Given the description of an element on the screen output the (x, y) to click on. 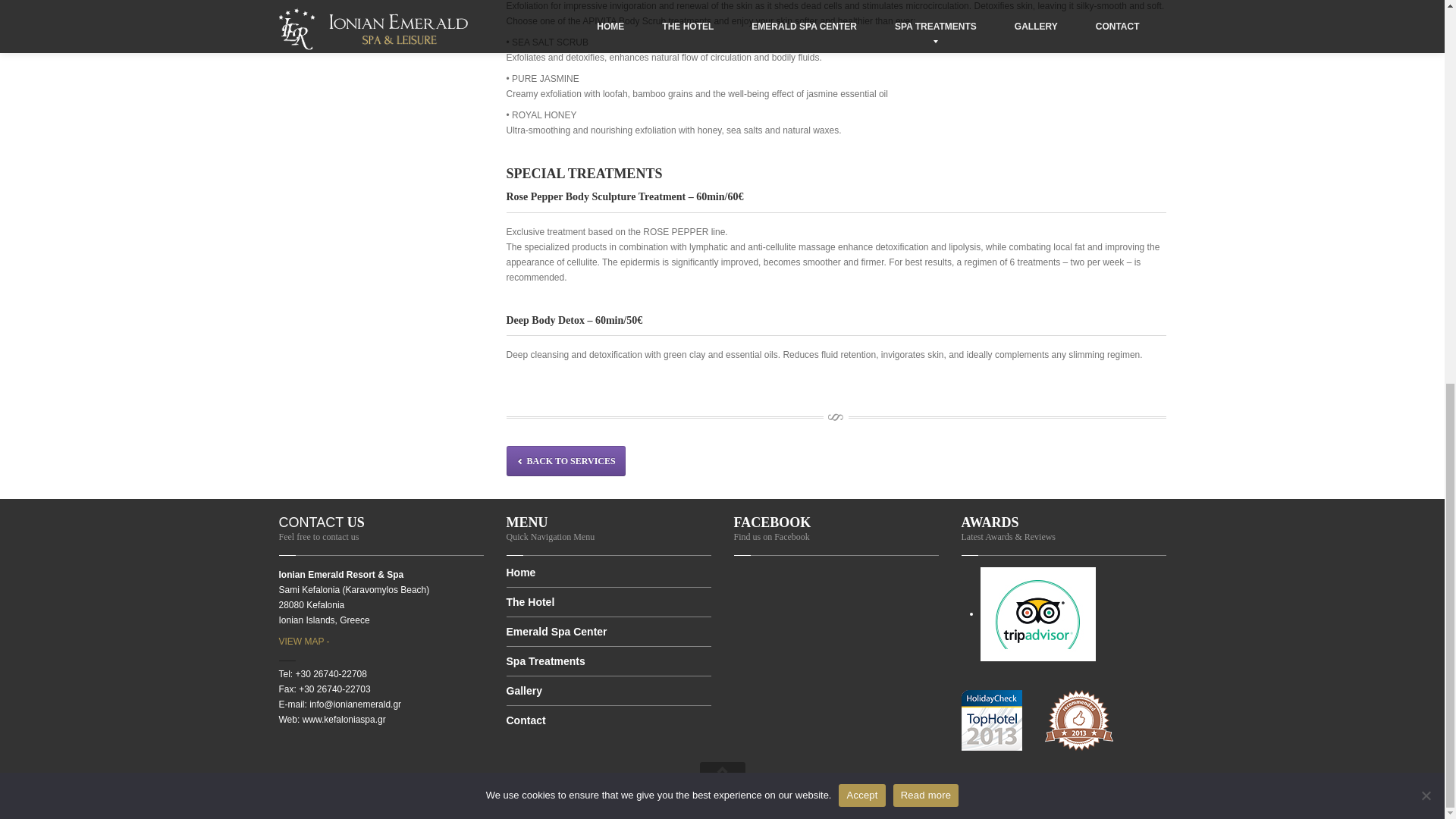
Spa Treatments (608, 661)
Greek (1131, 803)
Home (608, 577)
VIEW MAP - (304, 641)
Who is Who (660, 796)
Gallery (608, 690)
Emerald Spa Center (608, 632)
English (1069, 803)
No (1425, 75)
Accept (861, 75)
Privacy Policy (545, 796)
The Hotel (608, 602)
Read more (926, 75)
BACK TO SERVICES (566, 460)
Contact (608, 719)
